Given the description of an element on the screen output the (x, y) to click on. 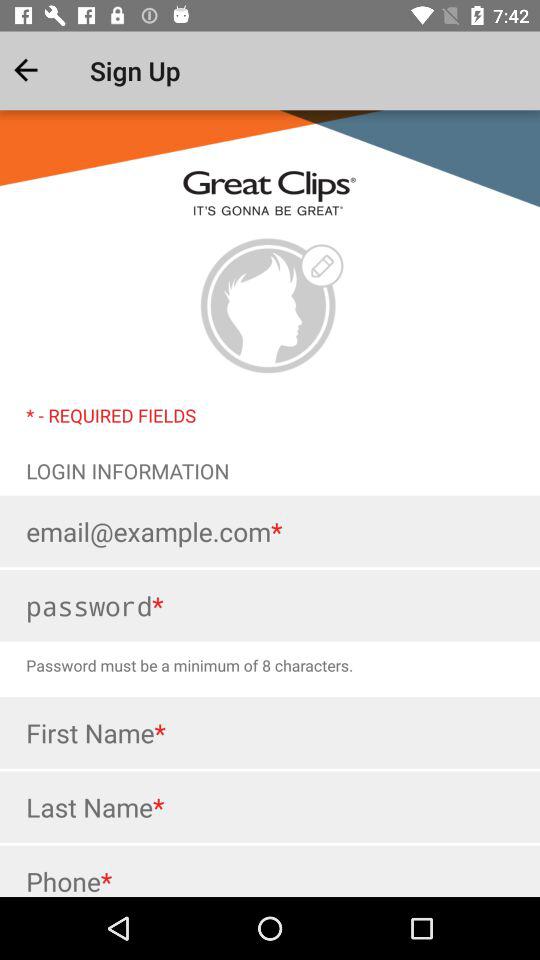
enter your password (269, 605)
